Given the description of an element on the screen output the (x, y) to click on. 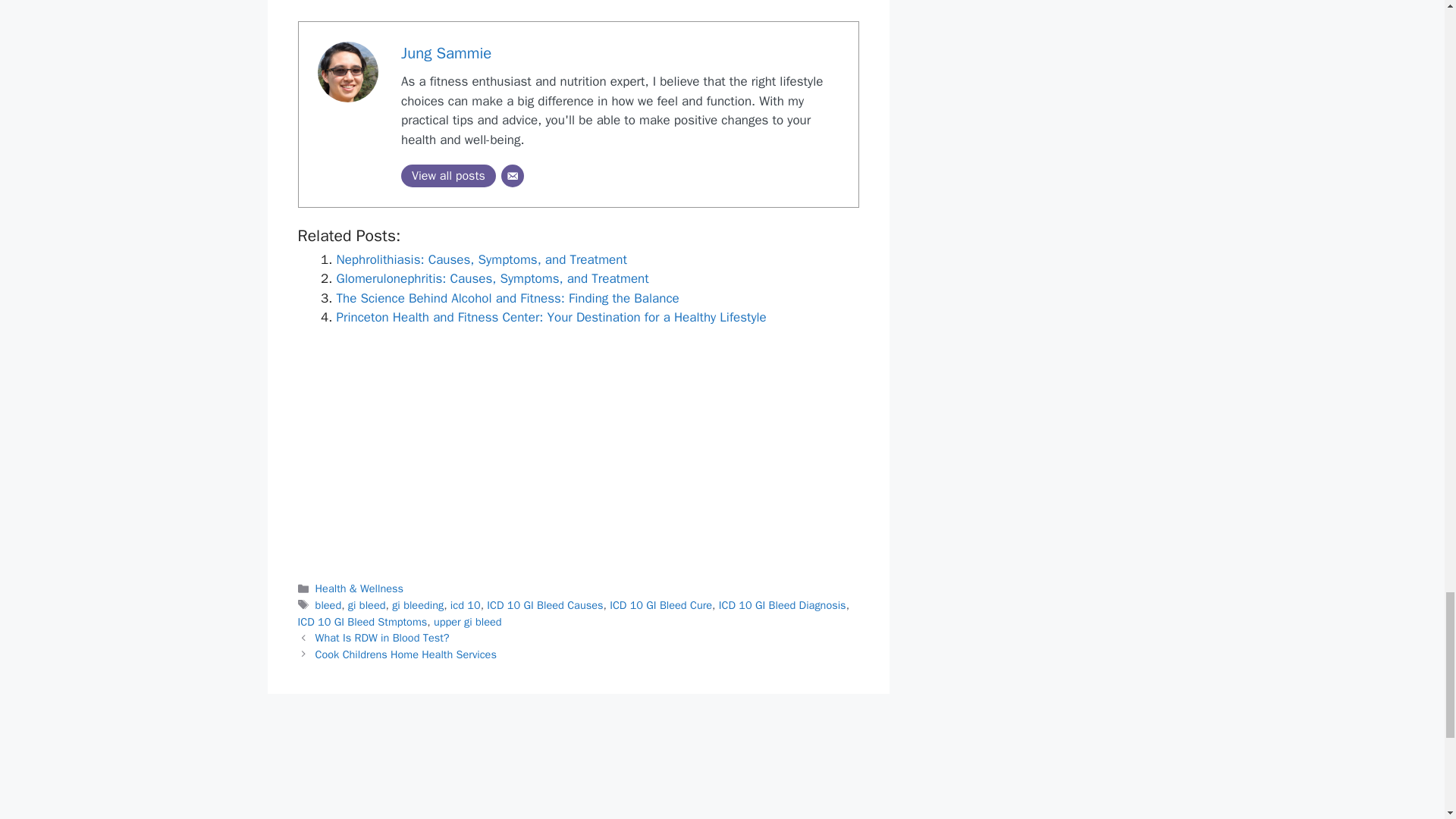
Nephrolithiasis: Causes, Symptoms, and Treatment (481, 259)
View all posts (448, 175)
ICD 10 GI Bleed Stmptoms (361, 621)
Cook Childrens Home Health Services (405, 653)
Jung Sammie (446, 53)
gi bleed (366, 604)
Glomerulonephritis: Causes, Symptoms, and Treatment (492, 278)
The Science Behind Alcohol and Fitness: Finding the Balance (507, 298)
ICD 10 GI Bleed Cure (660, 604)
